Given the description of an element on the screen output the (x, y) to click on. 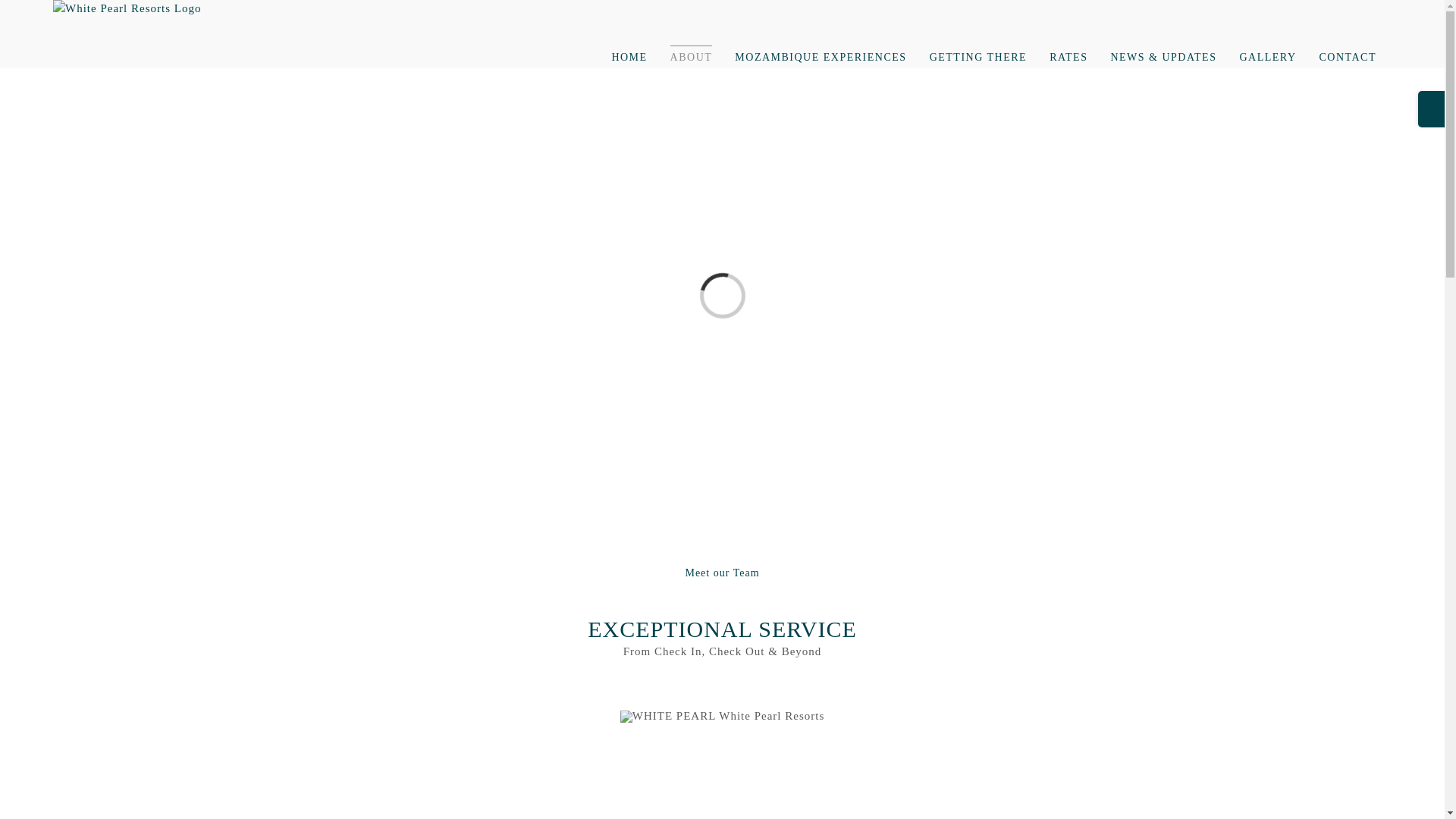
GALLERY (1267, 56)
GETTING THERE (978, 56)
RATES (1068, 56)
HOME (628, 56)
WHITE-PEARL (722, 716)
ABOUT (691, 56)
CONTACT (1348, 56)
MOZAMBIQUE EXPERIENCES (820, 56)
